Given the description of an element on the screen output the (x, y) to click on. 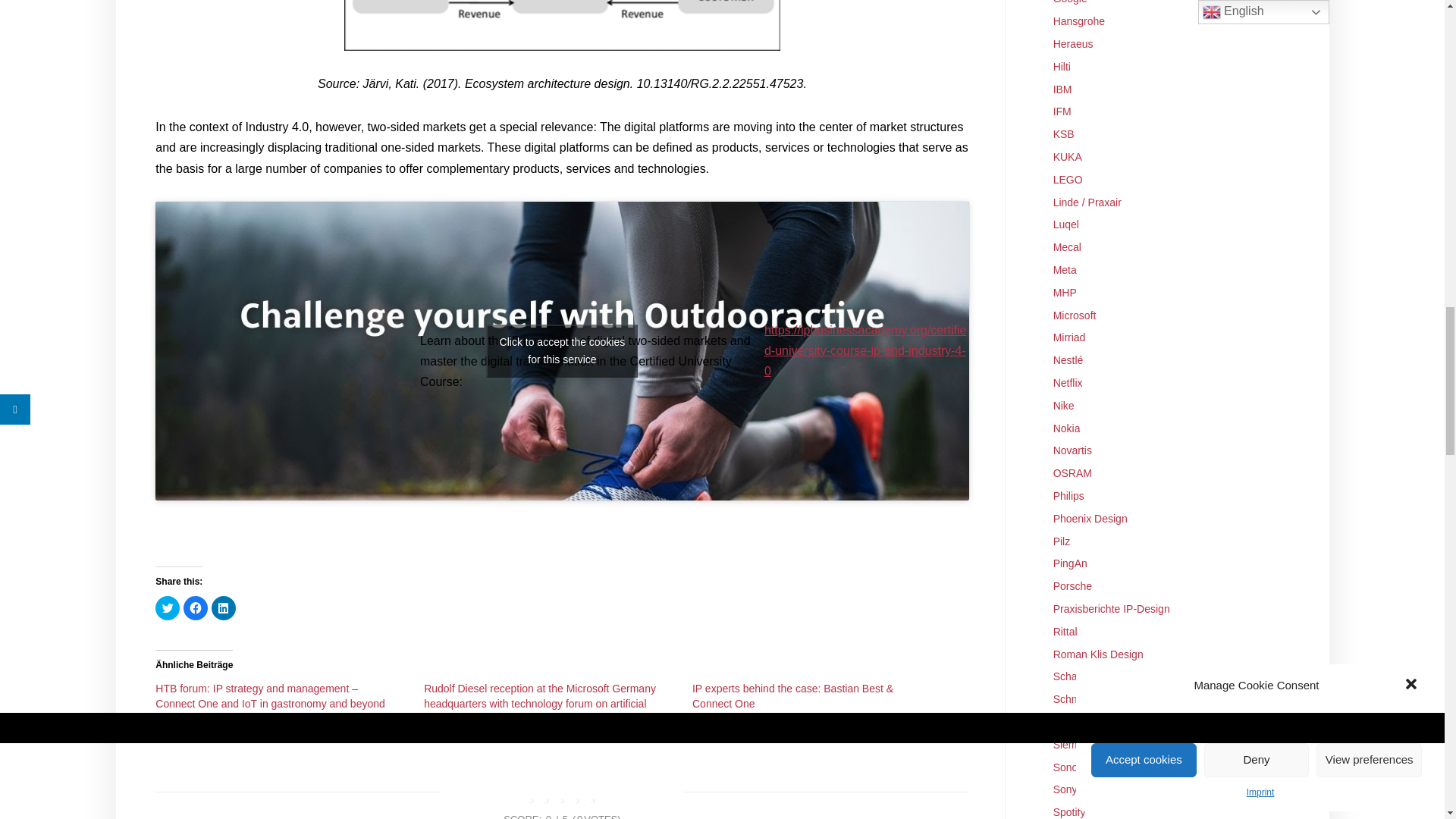
3 Stars (561, 793)
5 Stars (592, 793)
Click to share on Facebook (195, 607)
2 Stars (546, 793)
4 Stars (577, 793)
1 Star (531, 793)
Click to share on Twitter (167, 607)
Click to share on LinkedIn (223, 607)
